Given the description of an element on the screen output the (x, y) to click on. 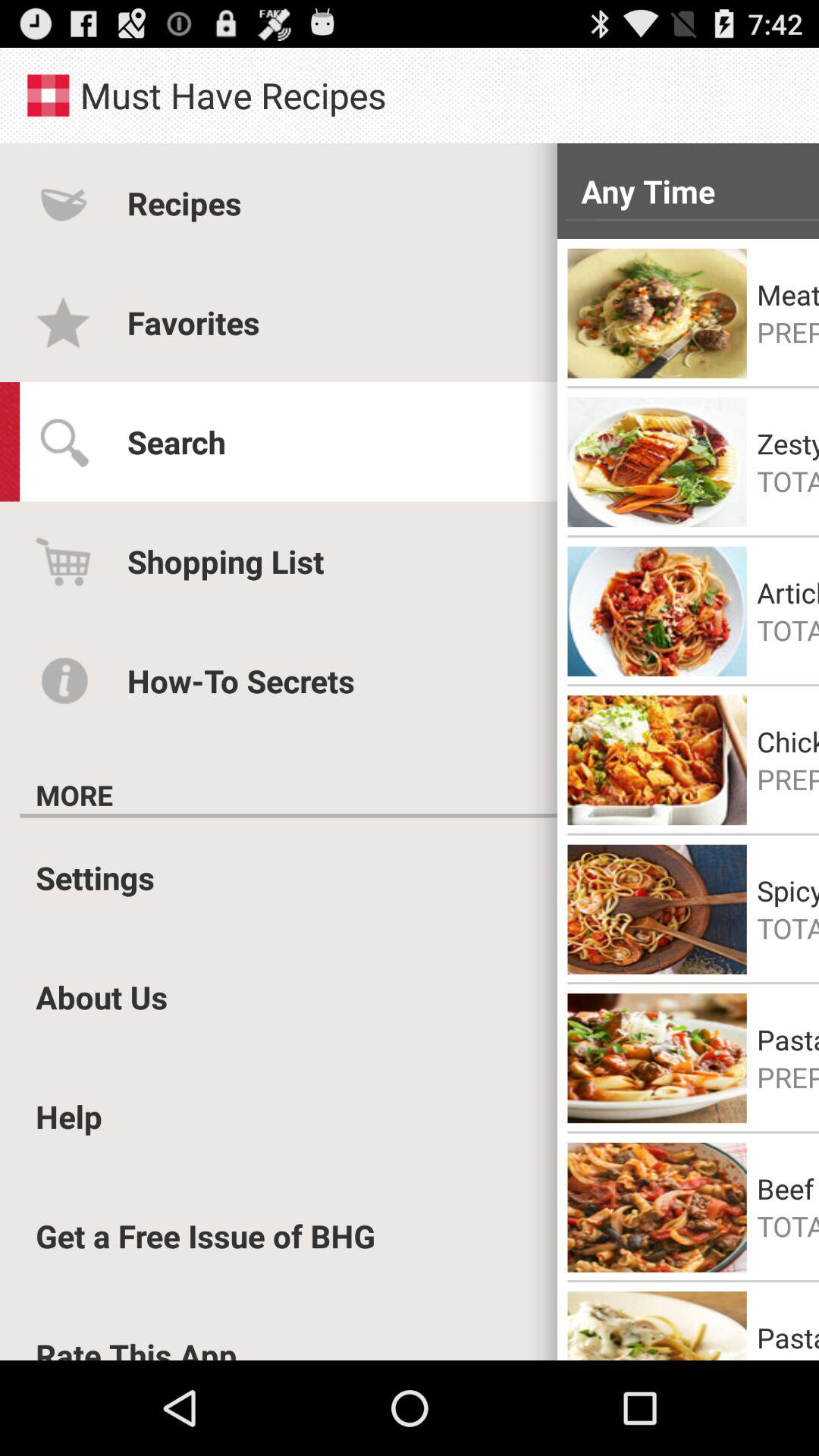
scroll until the shopping list (225, 560)
